Given the description of an element on the screen output the (x, y) to click on. 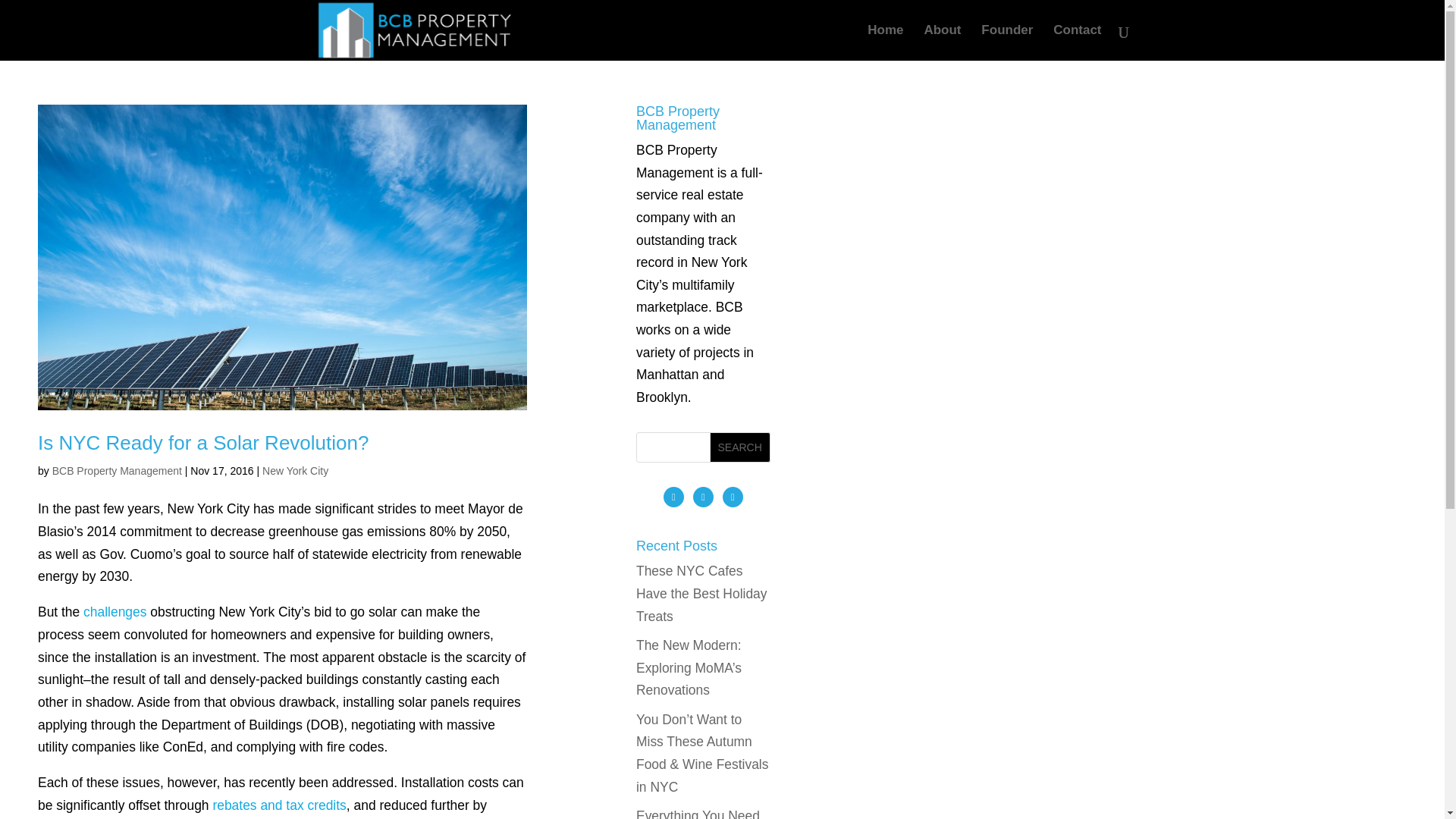
Search (740, 447)
rebates and tax credits (279, 805)
Search (740, 447)
Posts by BCB Property Management (117, 470)
These NYC Cafes Have the Best Holiday Treats (701, 593)
Is NYC Ready for a Solar Revolution? (202, 442)
BCB Property Management (117, 470)
Contact (1076, 42)
About (941, 42)
Everything You Need to Know About Broadway Week 2019 (700, 813)
